Given the description of an element on the screen output the (x, y) to click on. 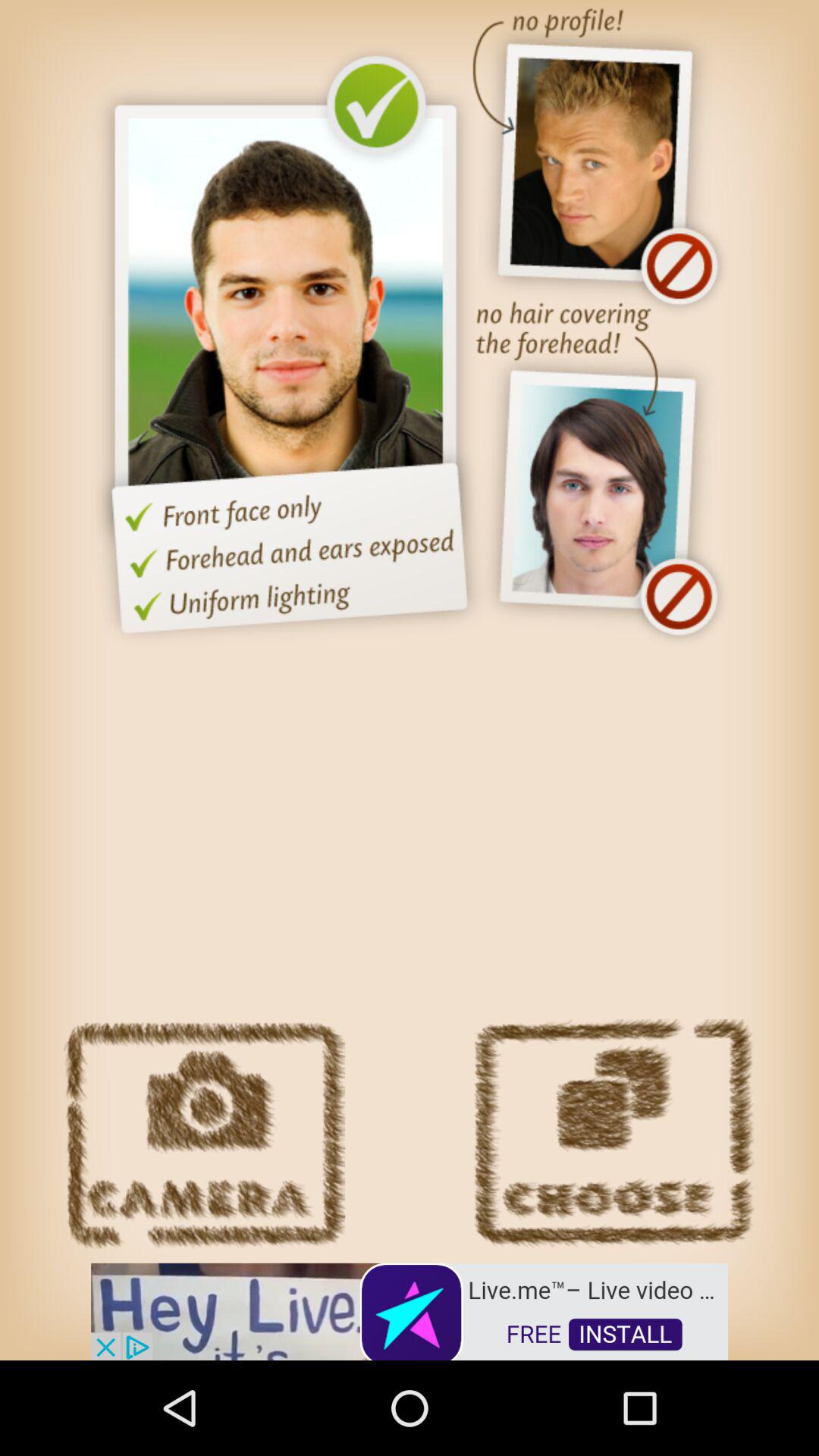
click to view advertisement (409, 1310)
